Given the description of an element on the screen output the (x, y) to click on. 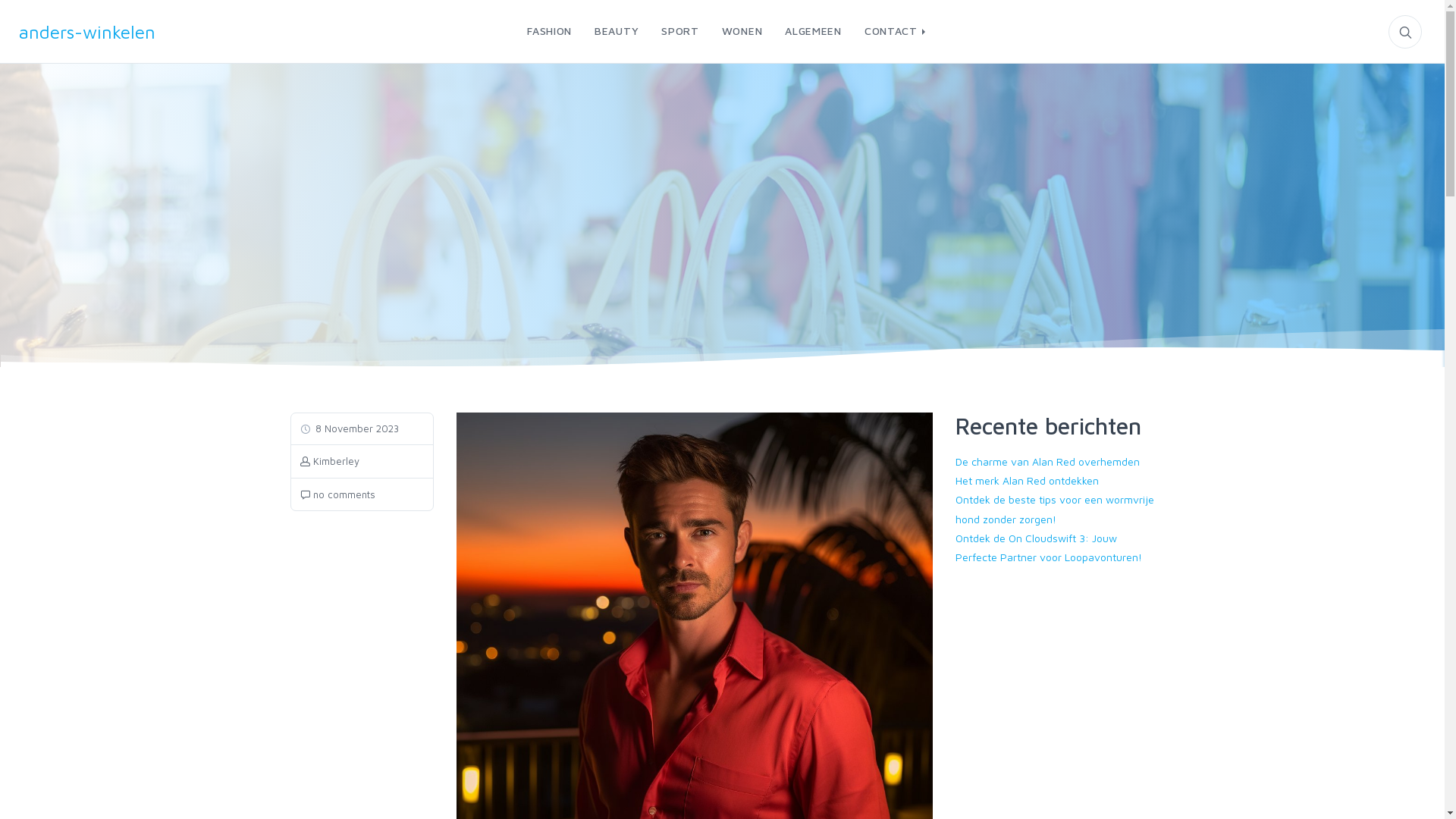
no comments Element type: text (337, 494)
BEAUTY Element type: text (616, 31)
WONEN Element type: text (742, 31)
Kimberley Element type: text (329, 461)
FASHION Element type: text (549, 31)
ALGEMEEN Element type: text (813, 31)
SPORT Element type: text (679, 31)
anders-winkelen Element type: text (106, 31)
De charme van Alan Red overhemden Element type: text (1047, 461)
Het merk Alan Red ontdekken Element type: text (1026, 479)
Ontdek de beste tips voor een wormvrije hond zonder zorgen! Element type: text (1054, 508)
CONTACT Element type: text (890, 31)
